Given the description of an element on the screen output the (x, y) to click on. 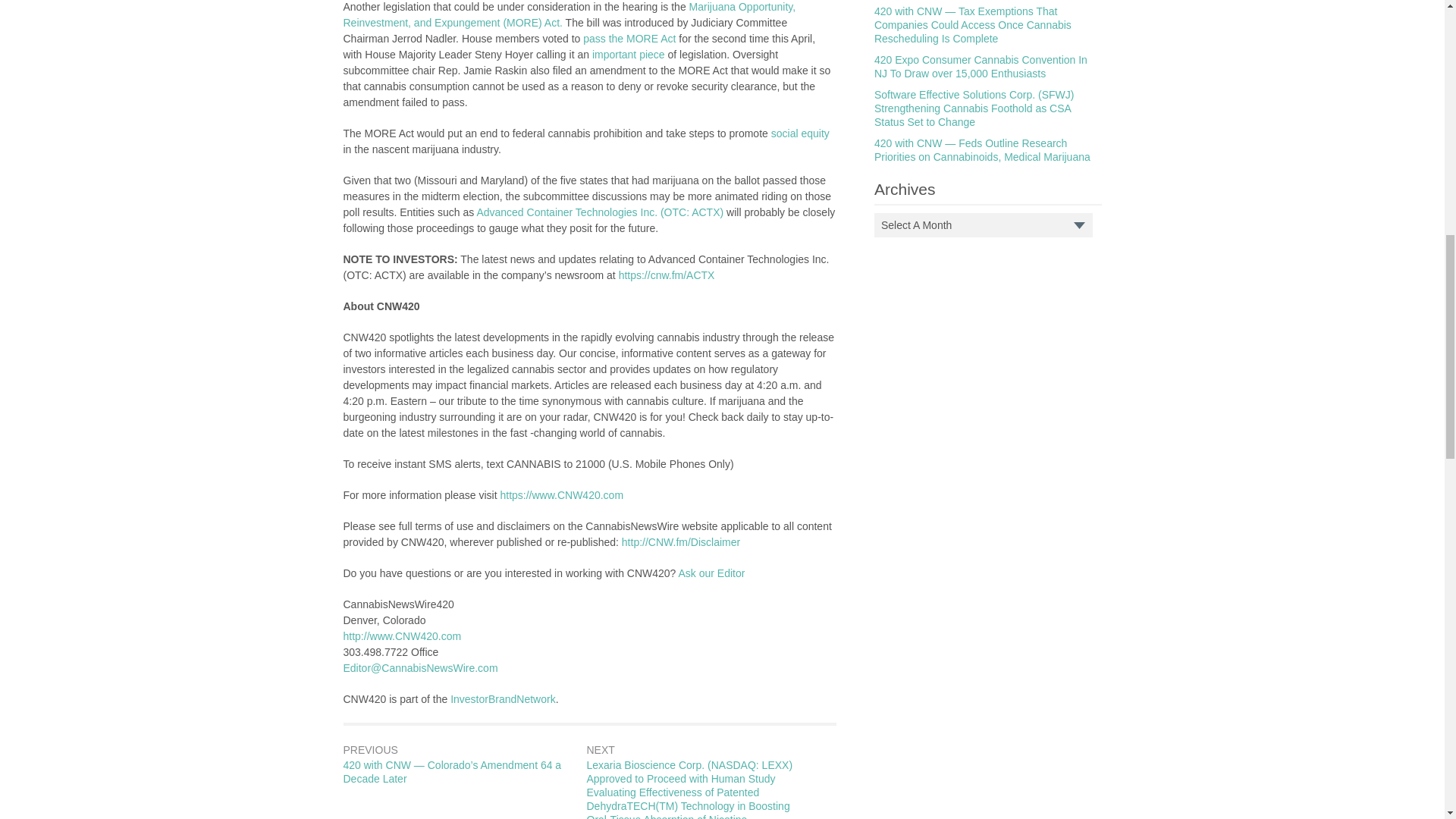
InvestorBrandNetwork (502, 698)
pass the MORE Act (629, 38)
social equity (800, 133)
important piece (630, 54)
Ask our Editor (711, 573)
